Given the description of an element on the screen output the (x, y) to click on. 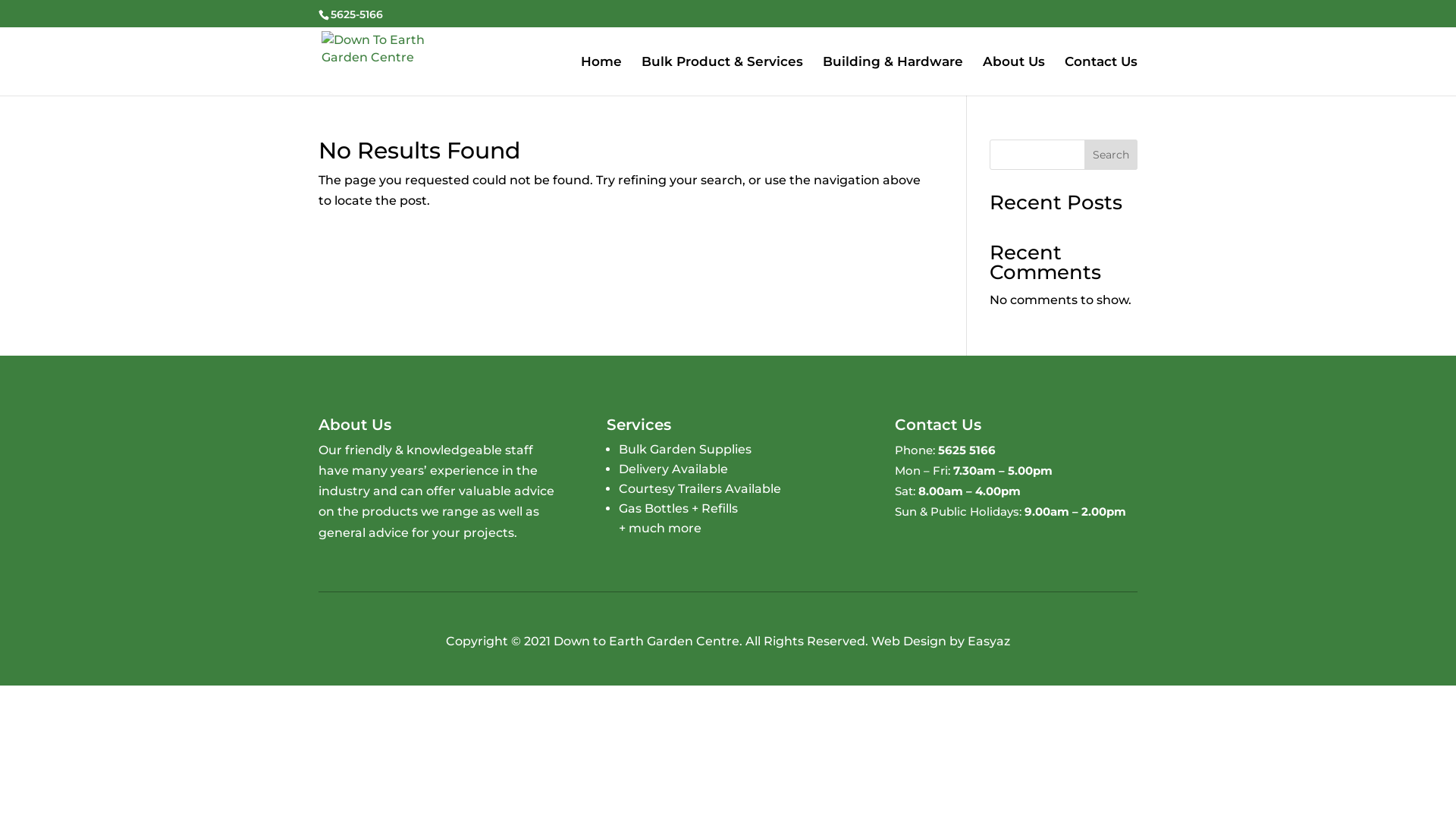
Contact Us Element type: text (1100, 75)
About Us Element type: text (1013, 75)
Home Element type: text (600, 75)
Search Element type: text (1110, 154)
Bulk Product & Services Element type: text (722, 75)
Building & Hardware Element type: text (892, 75)
Easyaz Element type: text (988, 640)
